Given the description of an element on the screen output the (x, y) to click on. 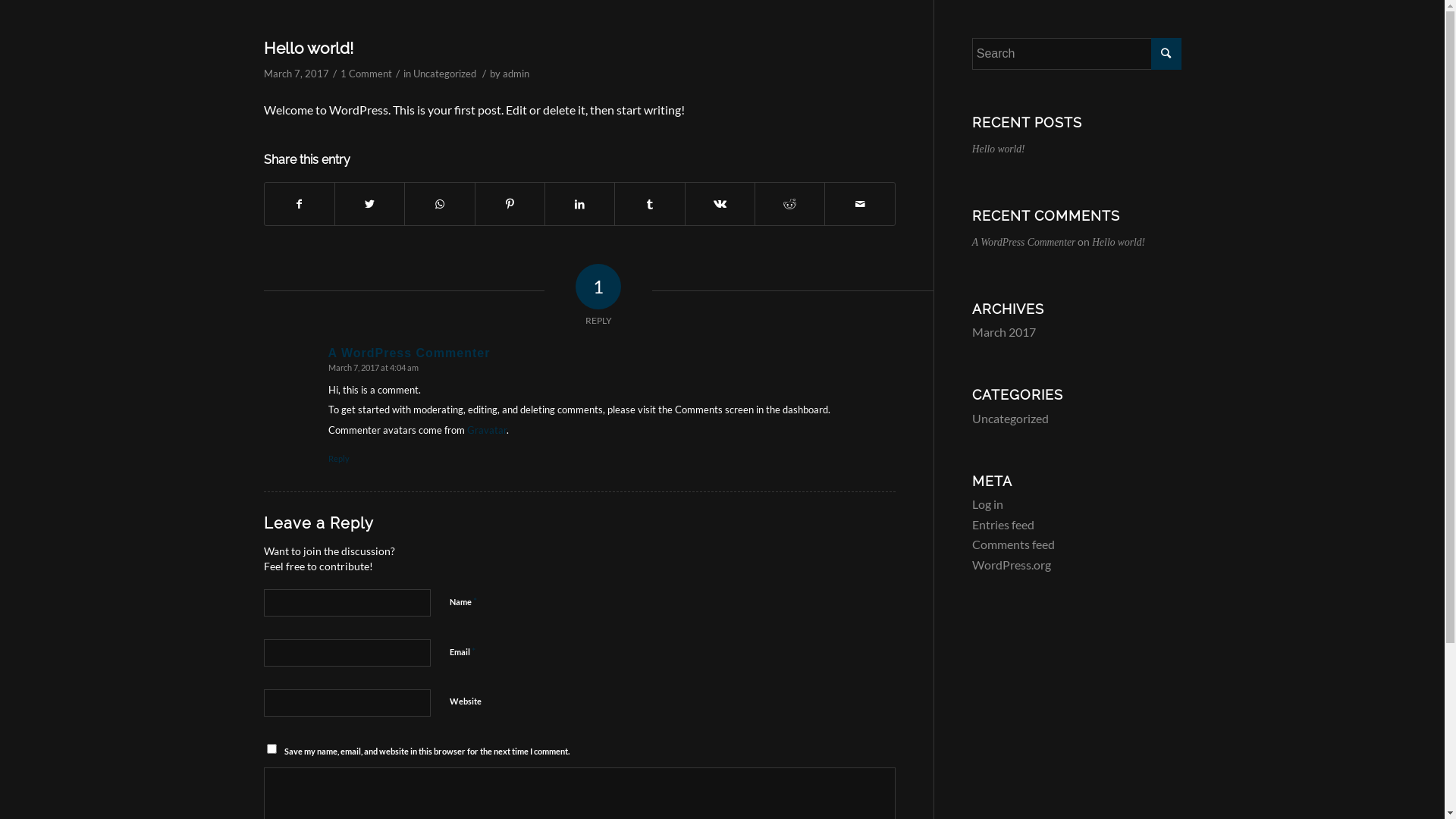
Hello world! Element type: text (1118, 241)
Uncategorized Element type: text (443, 73)
Reply Element type: text (337, 458)
Log in Element type: text (987, 503)
Hello world! Element type: text (998, 148)
March 2017 Element type: text (1003, 331)
Comments feed Element type: text (1013, 543)
Hello world! Element type: text (308, 47)
admin Element type: text (515, 73)
Uncategorized Element type: text (1010, 418)
WordPress.org Element type: text (1011, 564)
Gravatar Element type: text (486, 429)
A WordPress Commenter Element type: text (1023, 241)
1 Comment Element type: text (365, 73)
March 7, 2017 at 4:04 am Element type: text (372, 367)
Entries feed Element type: text (1003, 524)
A WordPress Commenter Element type: text (408, 352)
